Given the description of an element on the screen output the (x, y) to click on. 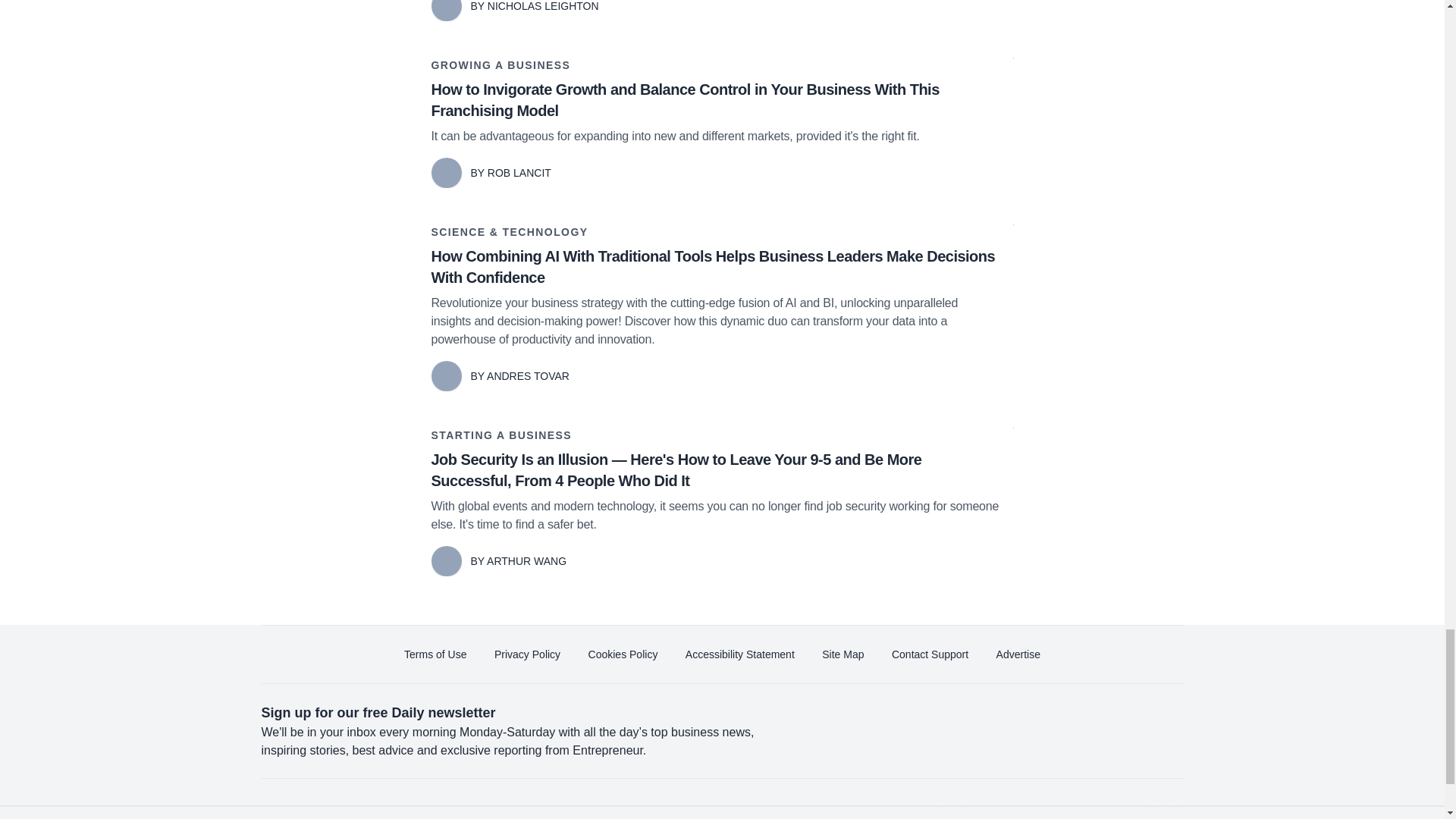
snapchat (1121, 807)
twitter (909, 807)
linkedin (952, 807)
facebook (866, 807)
tiktok (1079, 807)
youtube (994, 807)
instagram (1037, 807)
